Given the description of an element on the screen output the (x, y) to click on. 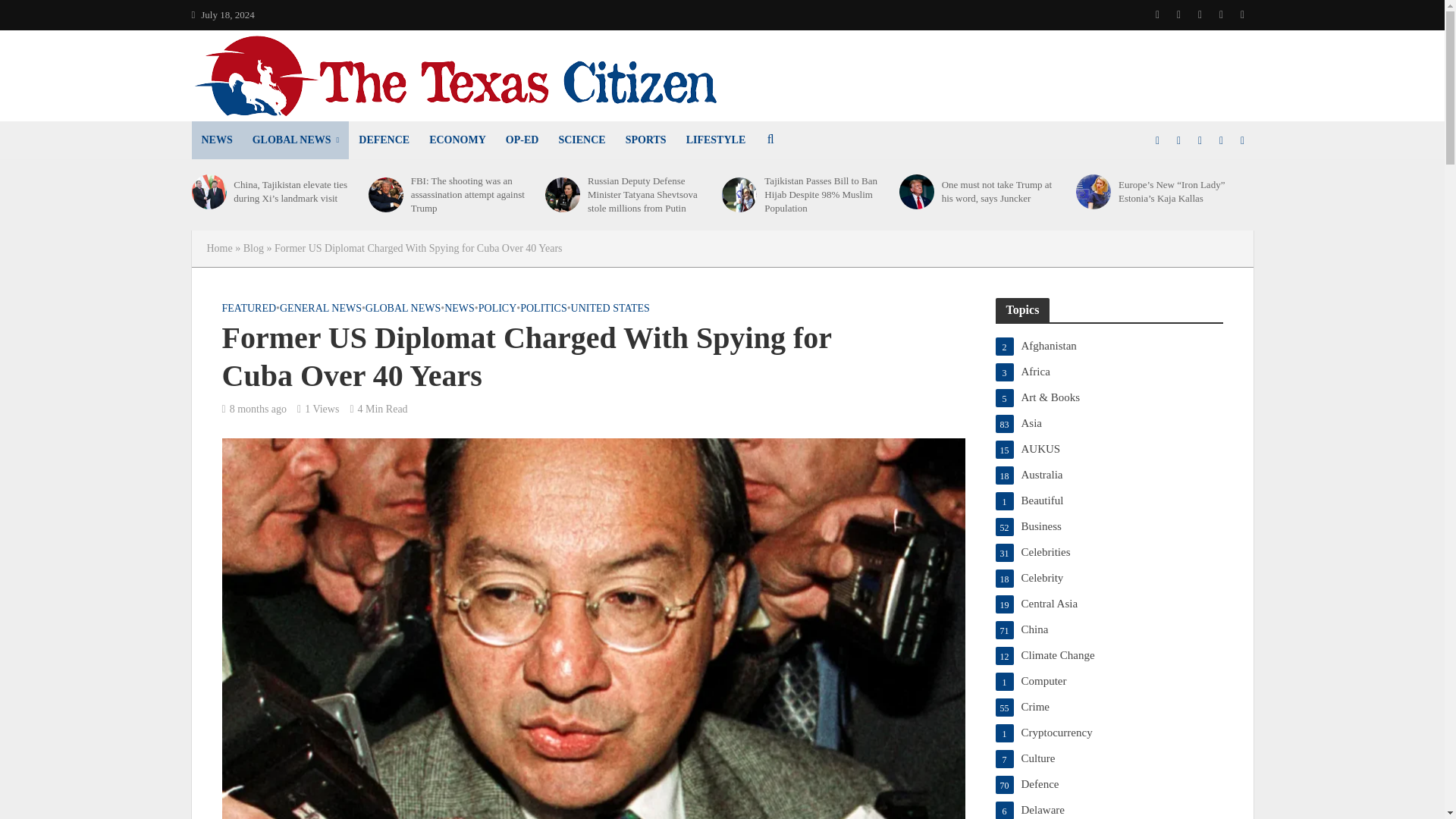
FBI: The shooting was an assassination attempt against Trump (385, 194)
One must not take Trump at his word, says Juncker (916, 191)
NEWS (215, 139)
GLOBAL NEWS (296, 139)
